Given the description of an element on the screen output the (x, y) to click on. 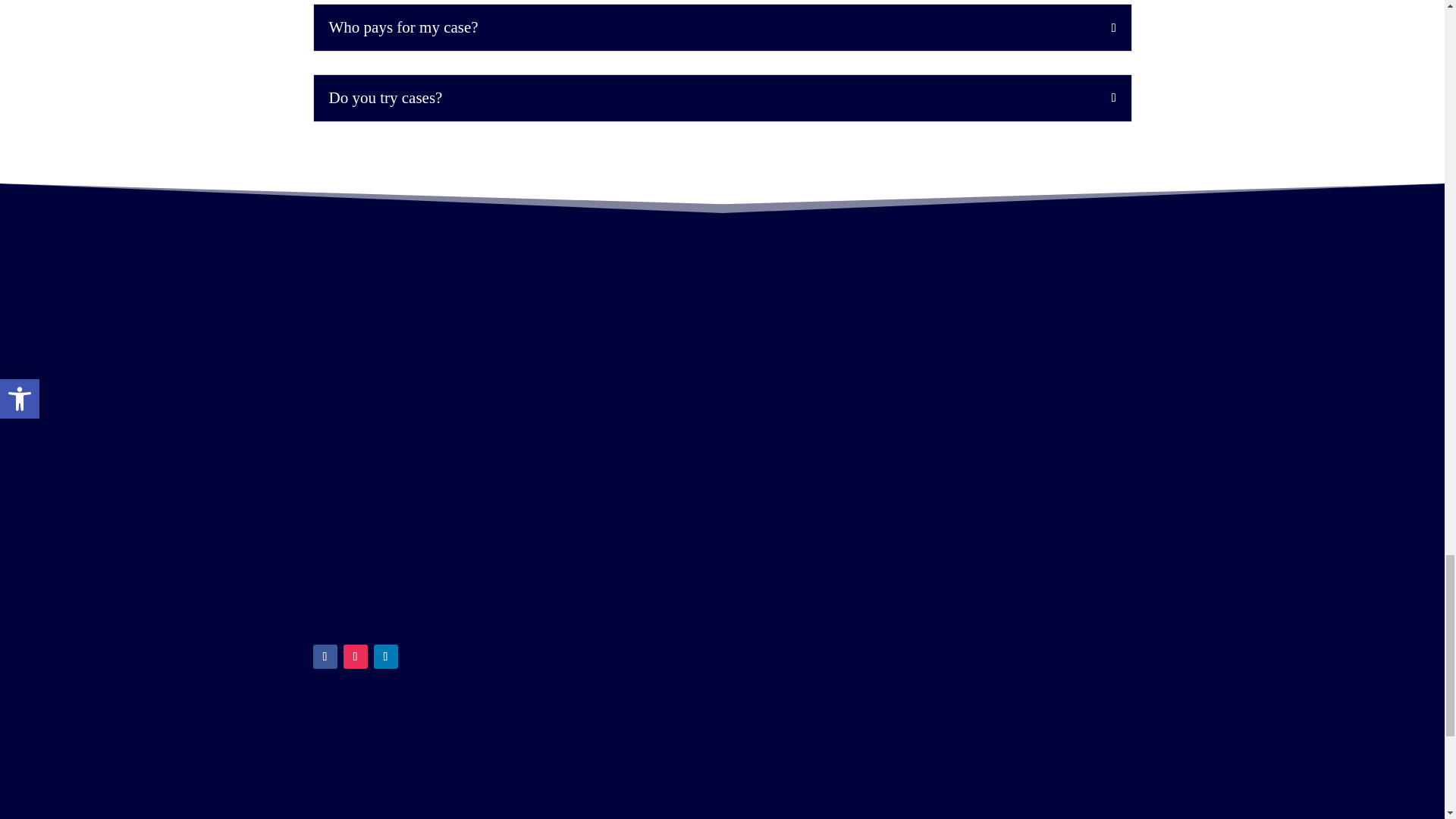
Follow on Instagram (354, 656)
Follow on LinkedIn (384, 656)
Follow on Facebook (324, 656)
